Given the description of an element on the screen output the (x, y) to click on. 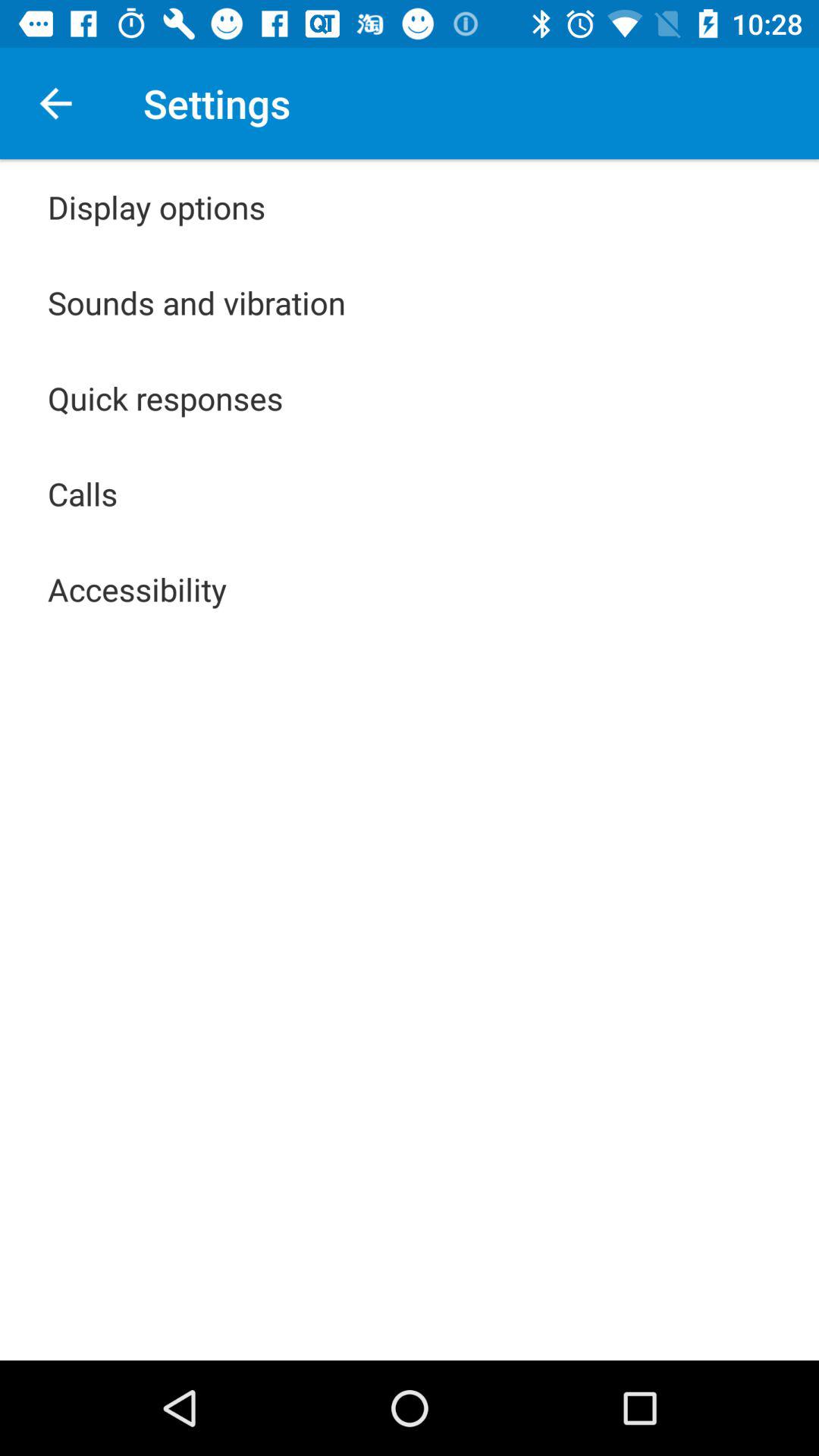
press the app below the sounds and vibration app (165, 397)
